Given the description of an element on the screen output the (x, y) to click on. 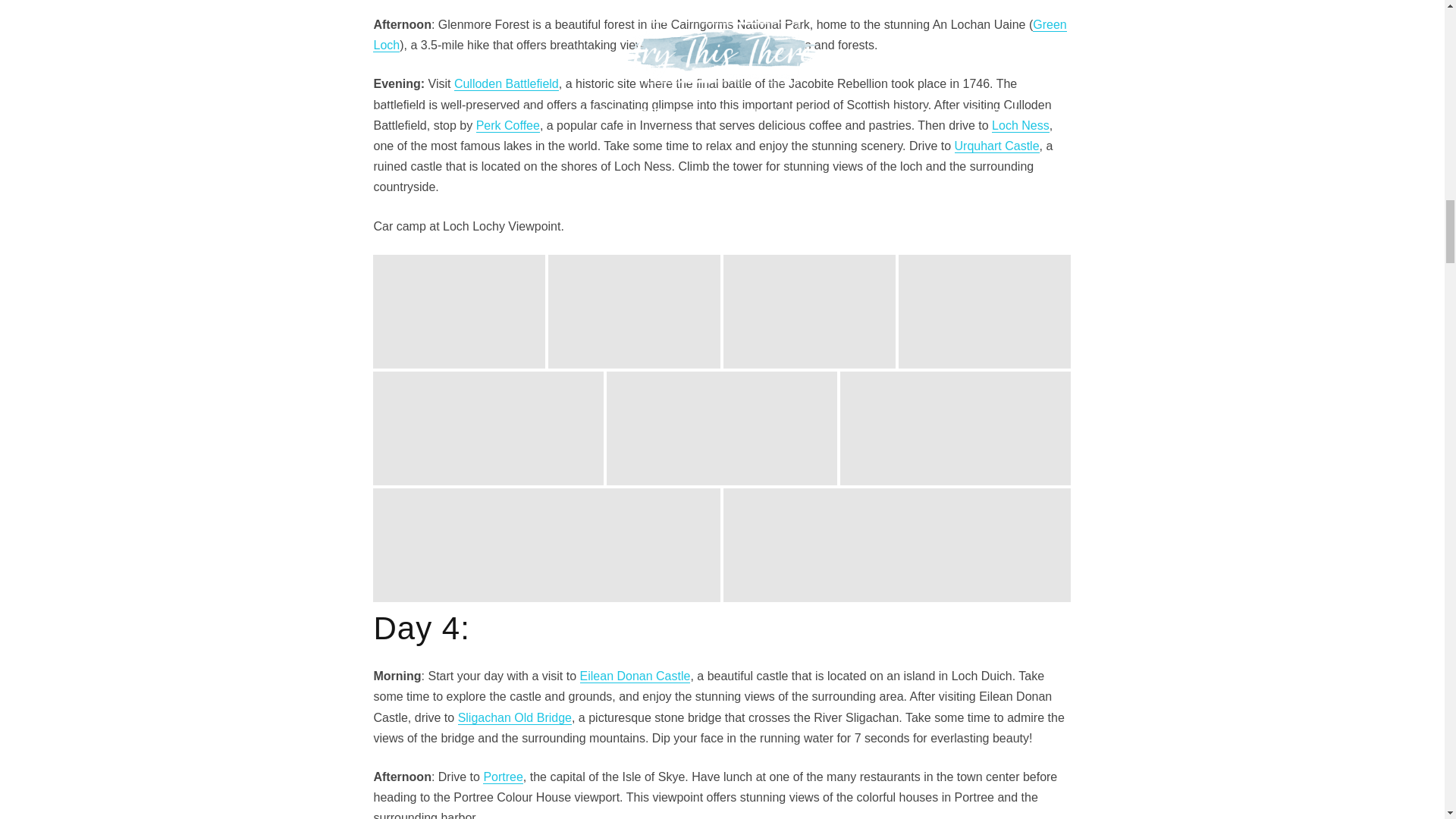
Perk Coffee (508, 125)
Green Loch (718, 35)
Loch Ness (1020, 125)
Urquhart Castle (997, 146)
Sligachan Old Bridge (515, 717)
Culloden Battlefield (506, 83)
Eilean Donan Castle (634, 676)
